Given the description of an element on the screen output the (x, y) to click on. 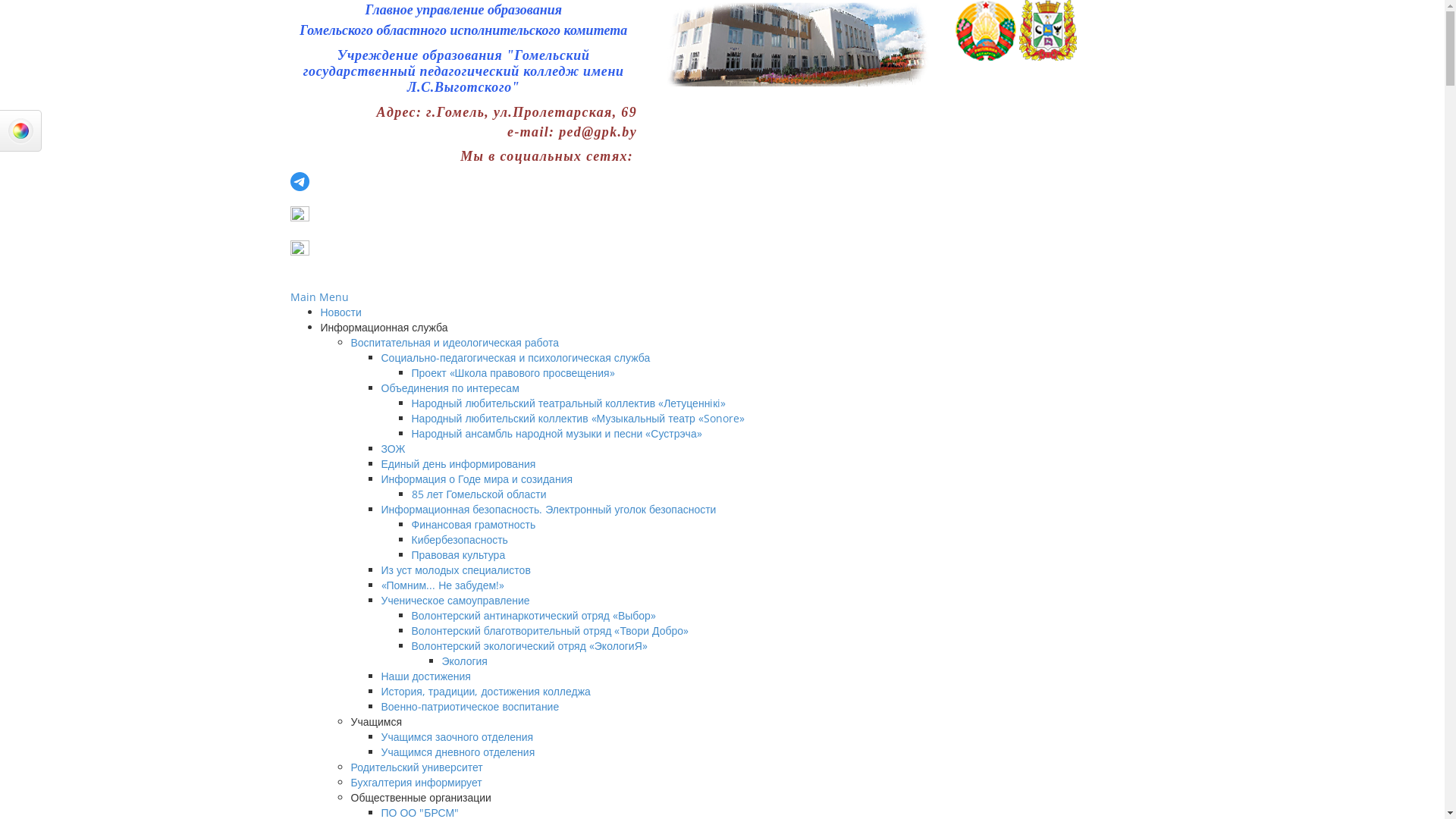
Main Menu Element type: text (318, 296)
